Given the description of an element on the screen output the (x, y) to click on. 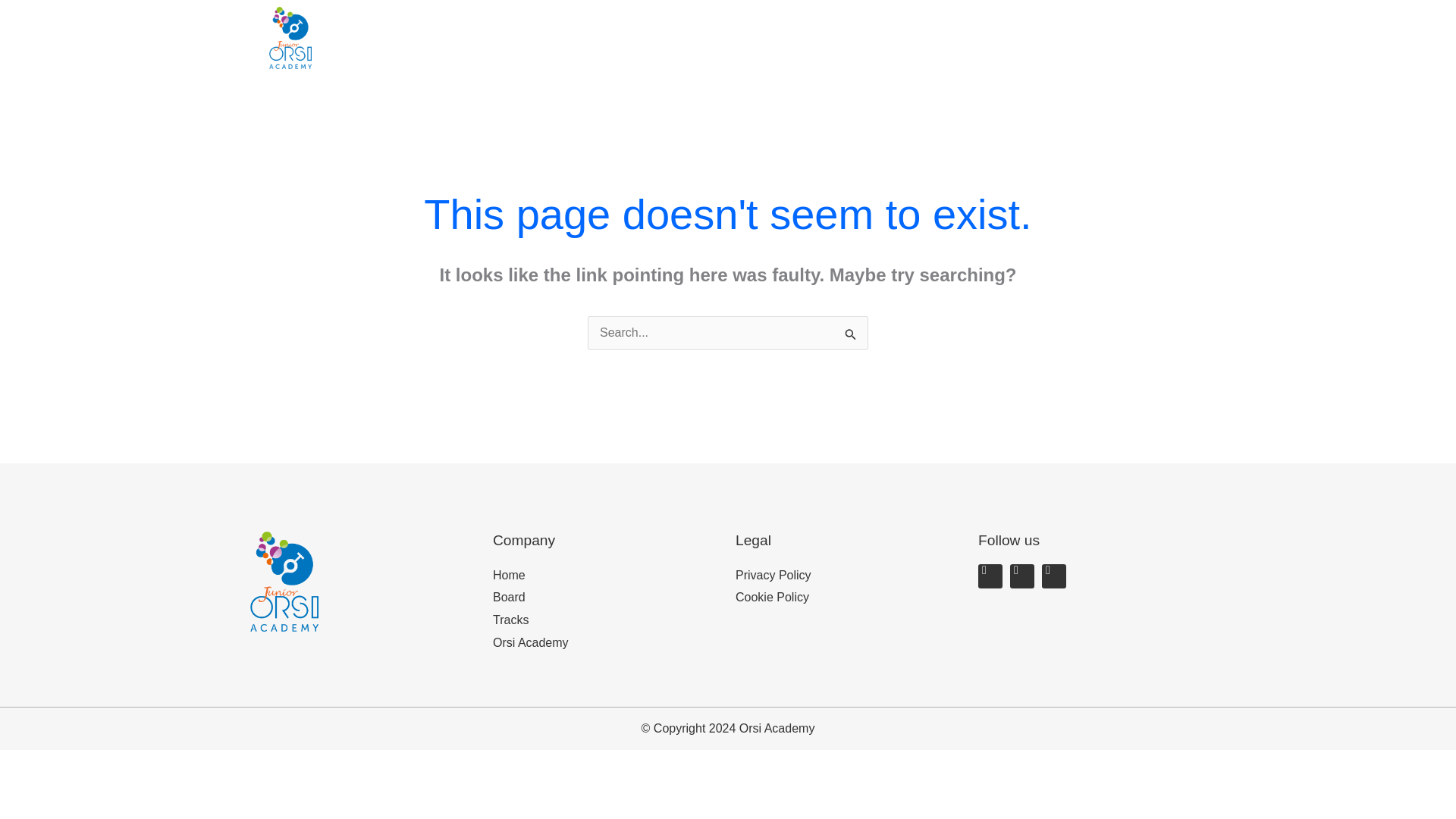
Home (606, 575)
Contact (1091, 38)
About Us (894, 38)
Board (606, 597)
